Given the description of an element on the screen output the (x, y) to click on. 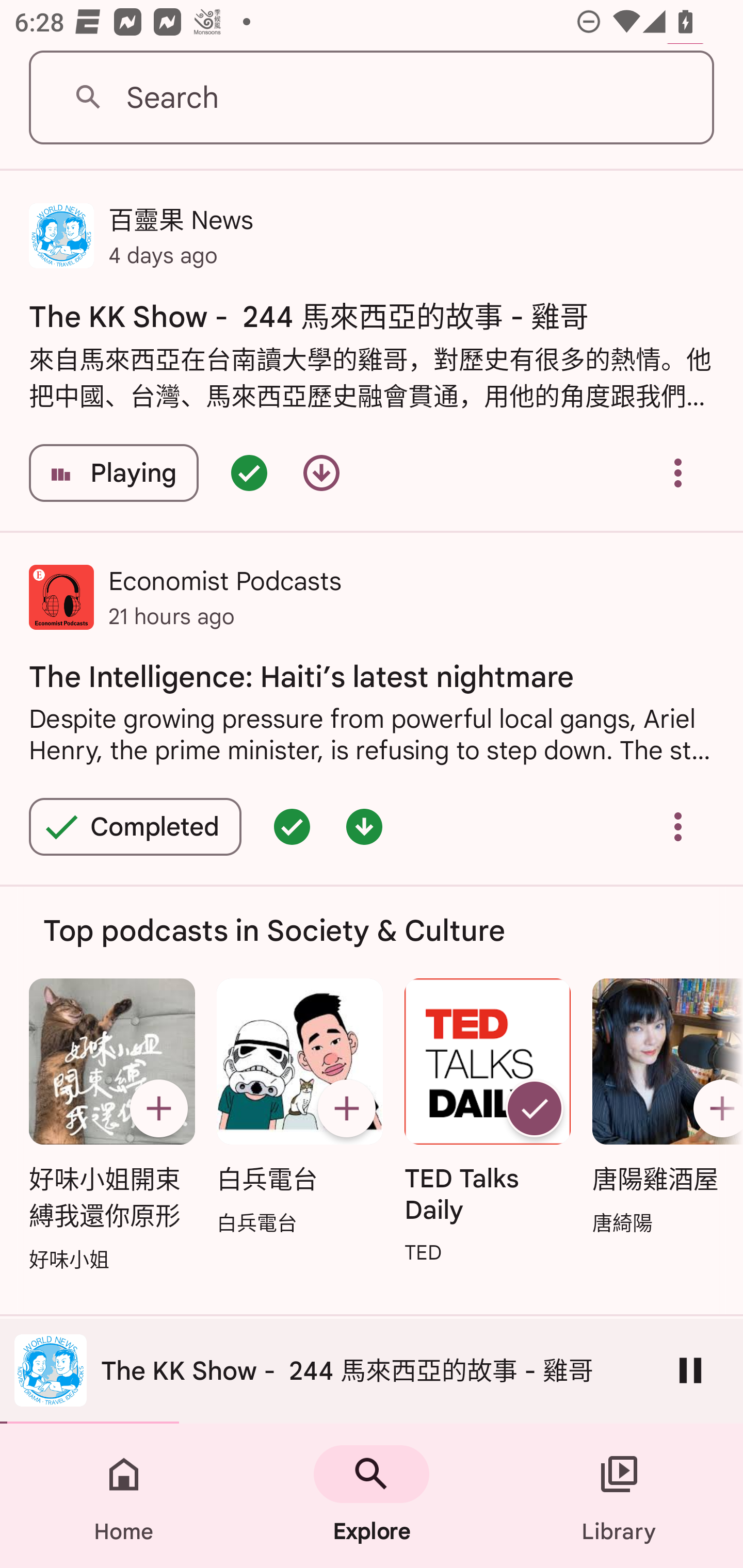
Search (371, 97)
Episode queued - double tap for options (249, 472)
Download episode (321, 472)
Overflow menu (677, 472)
Episode queued - double tap for options (291, 827)
Episode downloaded - double tap for options (364, 827)
Overflow menu (677, 827)
好味小姐開束縛我還你原形 Subscribe 好味小姐開束縛我還你原形 好味小姐 (111, 1126)
白兵電台 Subscribe 白兵電台 白兵電台 (299, 1107)
TED Talks Daily Unsubscribe TED Talks Daily TED (487, 1122)
唐陽雞酒屋 Subscribe 唐陽雞酒屋 唐綺陽 (662, 1107)
Subscribe (158, 1108)
Subscribe (346, 1108)
Unsubscribe (534, 1108)
Subscribe (714, 1108)
Pause (690, 1370)
Home (123, 1495)
Library (619, 1495)
